Given the description of an element on the screen output the (x, y) to click on. 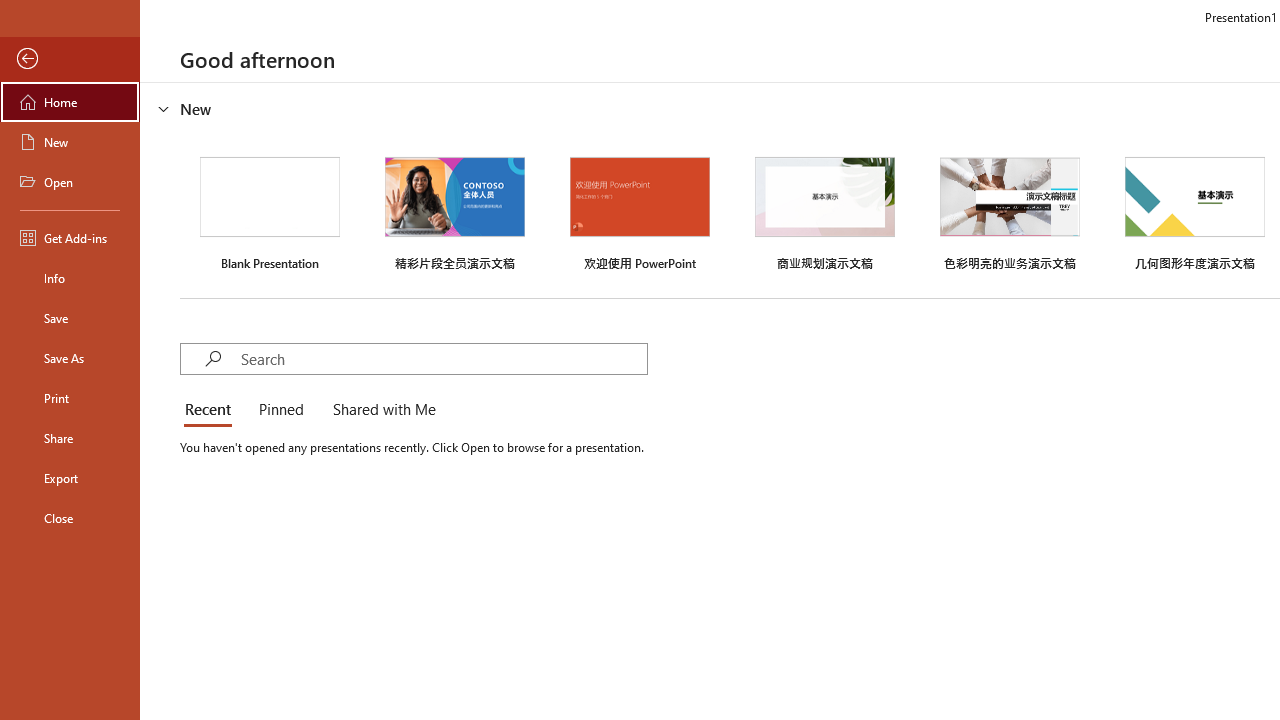
Save As (69, 357)
Shared with Me (379, 410)
New (69, 141)
Info (69, 277)
